Given the description of an element on the screen output the (x, y) to click on. 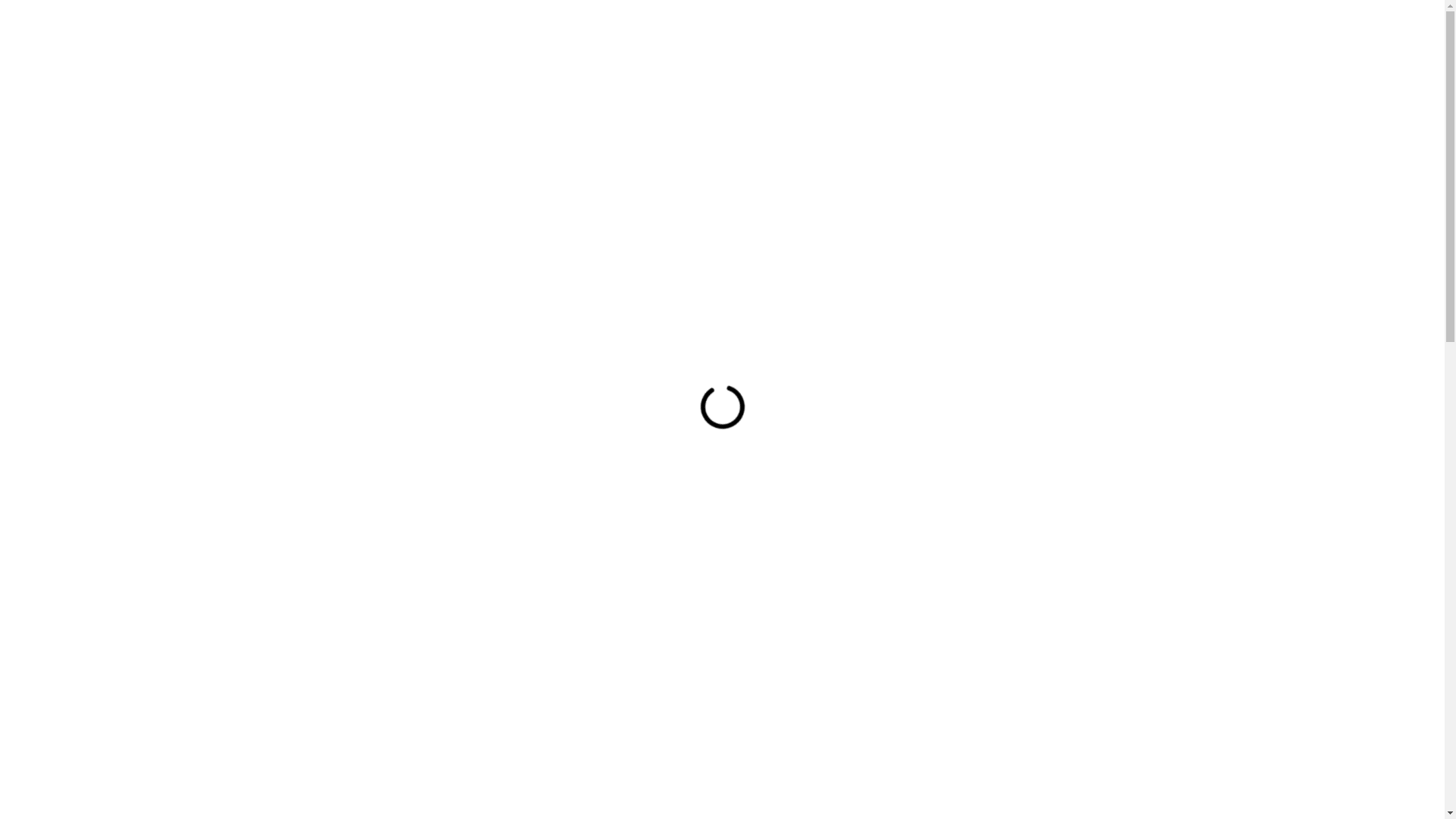
Services & Treatments Element type: text (911, 29)
About Henry Element type: text (784, 29)
Contact Element type: text (1119, 29)
Where are your consultation rooms? Element type: text (722, 701)
Dr Henry Hicks Element type: text (306, 29)
search Element type: text (1185, 29)
Home Element type: text (708, 29)
Do I need a referral? Element type: text (722, 796)
Where can I park? Element type: text (722, 749)
FAQs Element type: text (1013, 29)
Links Element type: text (1062, 29)
